Given the description of an element on the screen output the (x, y) to click on. 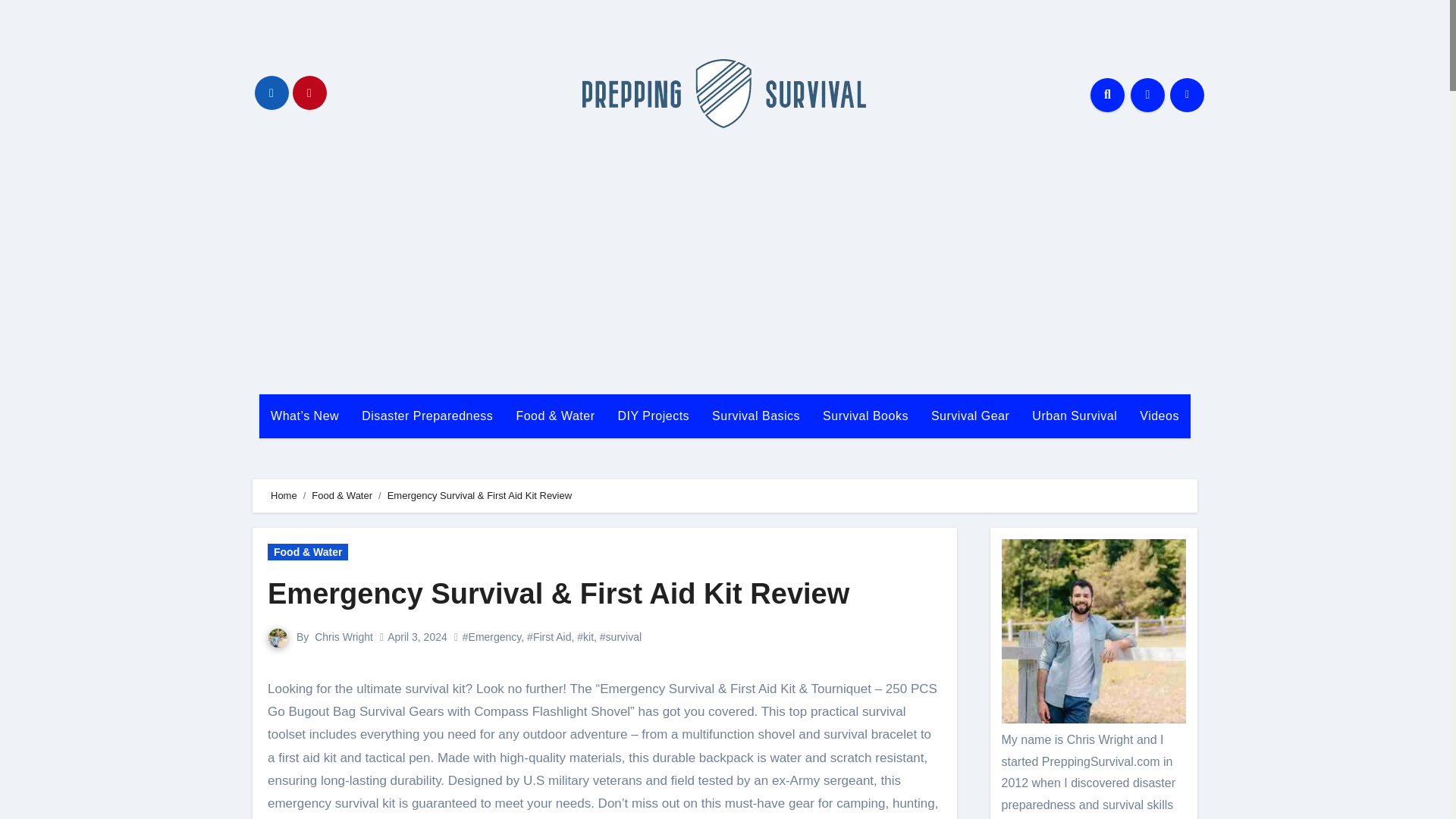
Survival Gear (970, 415)
Home (283, 495)
Chris Wright (343, 636)
Videos (1159, 415)
Disaster Preparedness (426, 415)
Disaster Preparedness (426, 415)
DIY Projects (652, 415)
What's New (304, 415)
Survival Basics (755, 415)
Survival Books (865, 415)
Urban Survival (1074, 415)
Survival Gear (970, 415)
Survival Basics (755, 415)
Urban Survival (1074, 415)
Survival Books (865, 415)
